Given the description of an element on the screen output the (x, y) to click on. 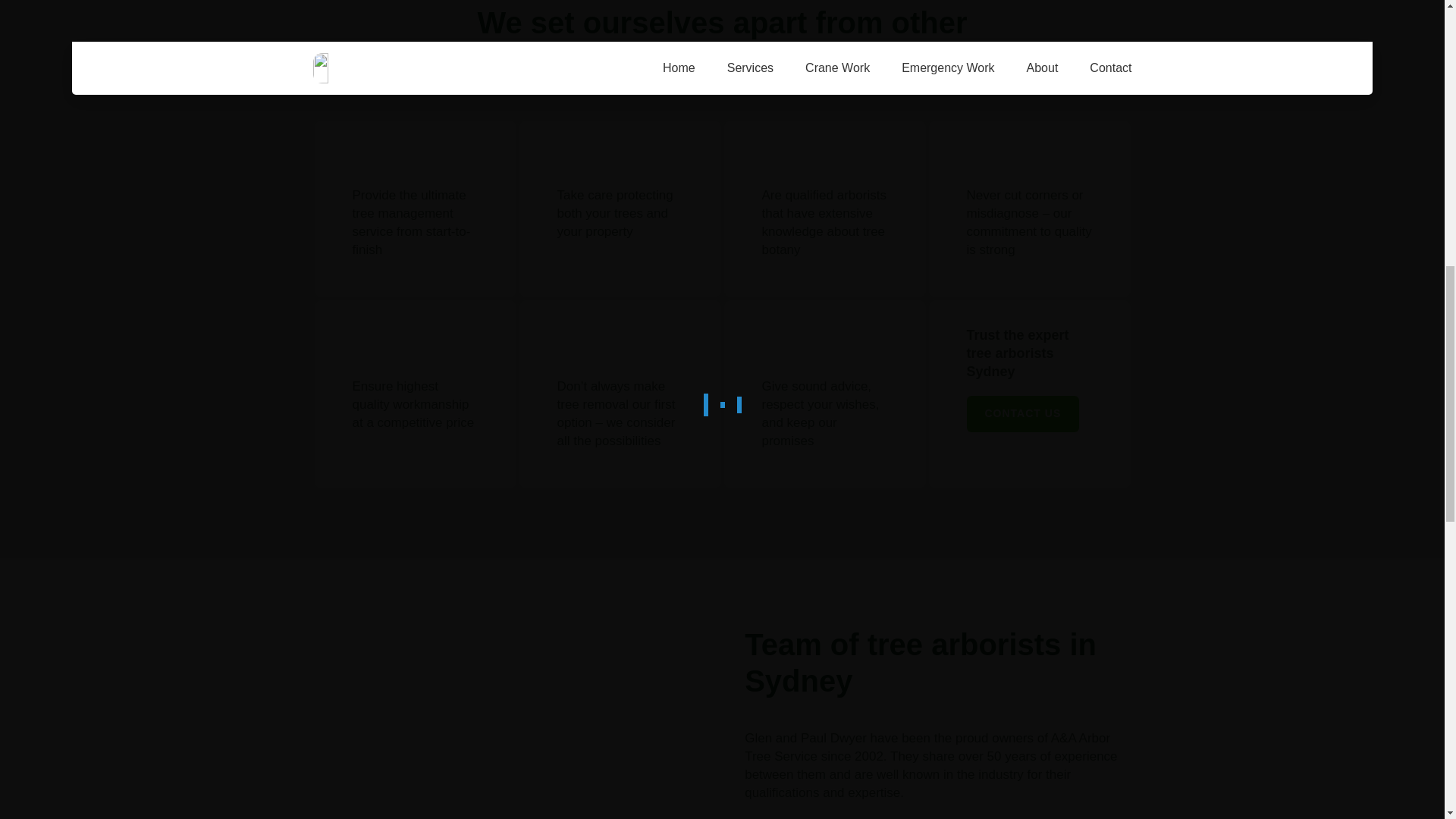
CONTACT US (1022, 413)
